Given the description of an element on the screen output the (x, y) to click on. 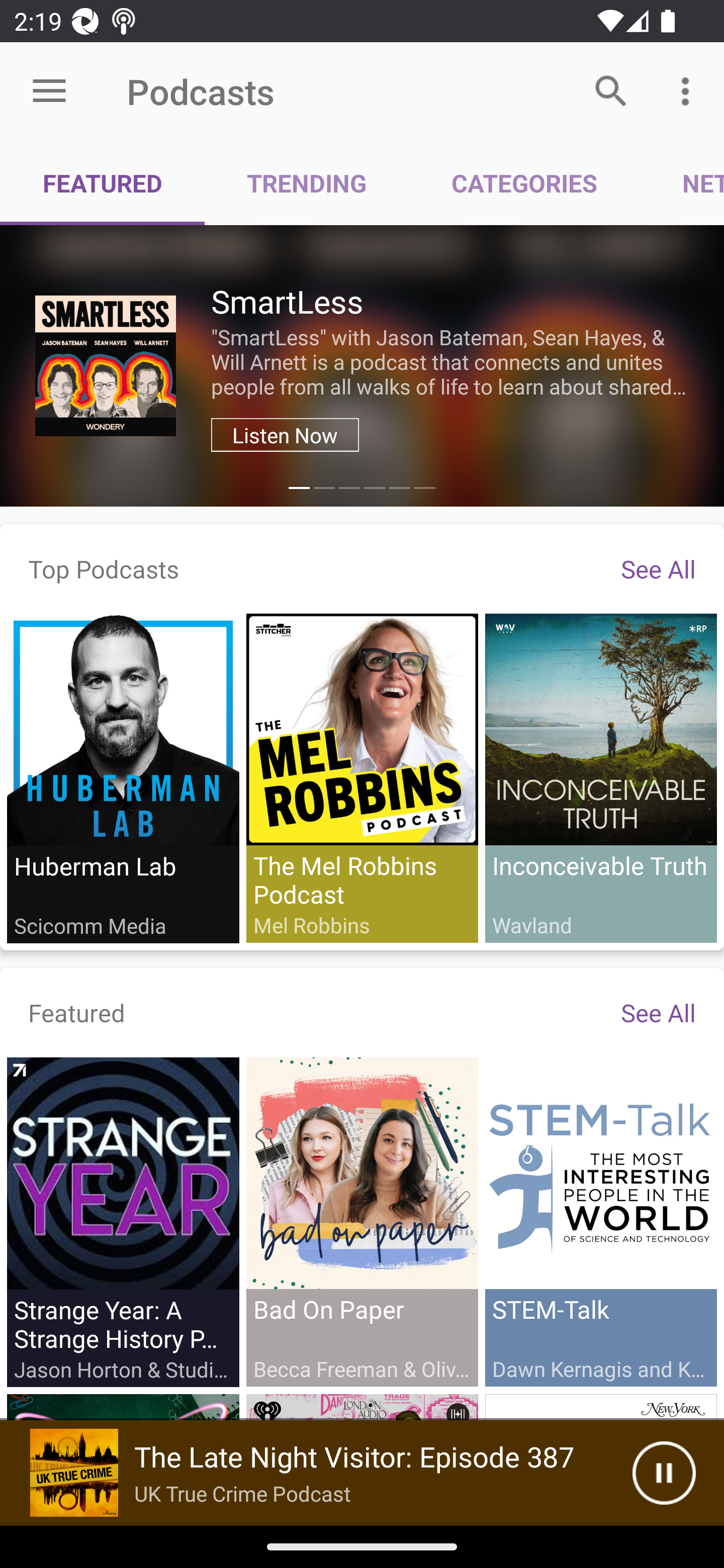
Open menu (49, 91)
Search (611, 90)
More options (688, 90)
FEATURED (102, 183)
TRENDING (306, 183)
CATEGORIES (524, 183)
Top Podcasts (103, 567)
See All (658, 567)
Huberman Lab Scicomm Media (123, 778)
The Mel Robbins Podcast Mel Robbins (361, 777)
Inconceivable Truth Wavland (600, 777)
Featured (76, 1011)
See All (658, 1011)
Bad On Paper Becca Freeman & Olivia Muenter (361, 1221)
STEM-Talk Dawn Kernagis and Ken Ford (600, 1221)
Pause (663, 1472)
